Given the description of an element on the screen output the (x, y) to click on. 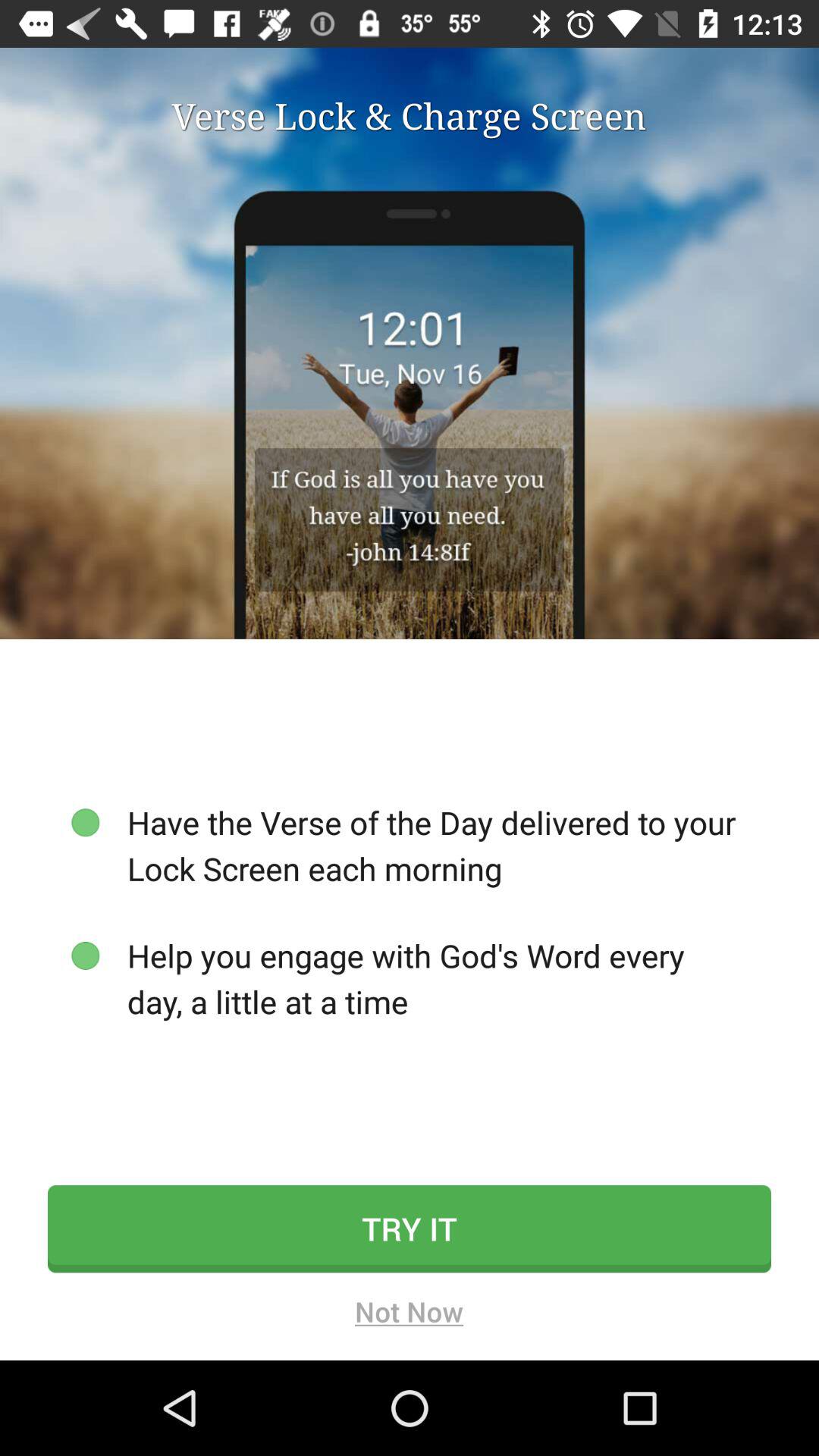
swipe to try it (409, 1228)
